Given the description of an element on the screen output the (x, y) to click on. 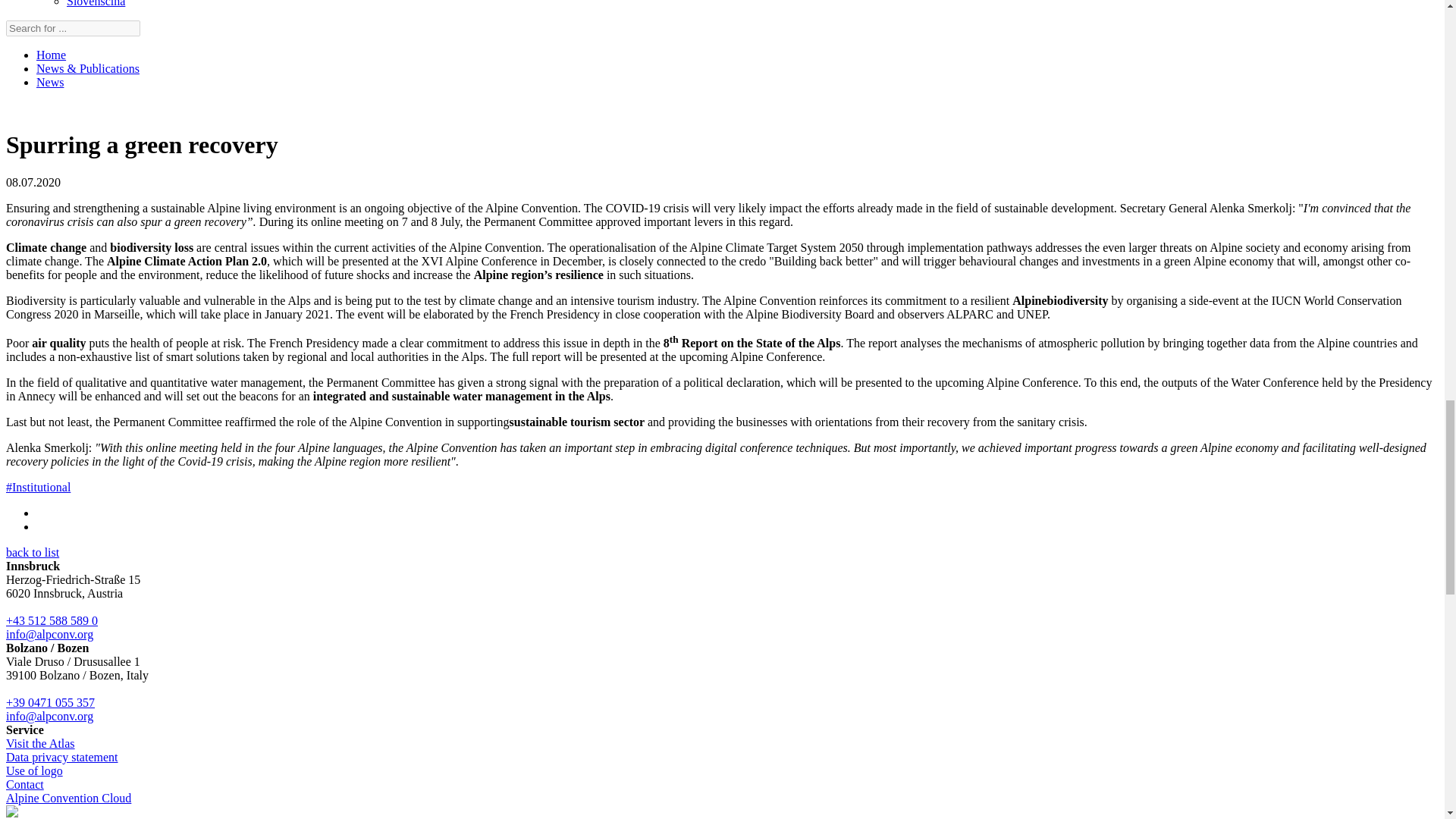
Home (50, 54)
News (50, 82)
Linkedin (11, 812)
